Given the description of an element on the screen output the (x, y) to click on. 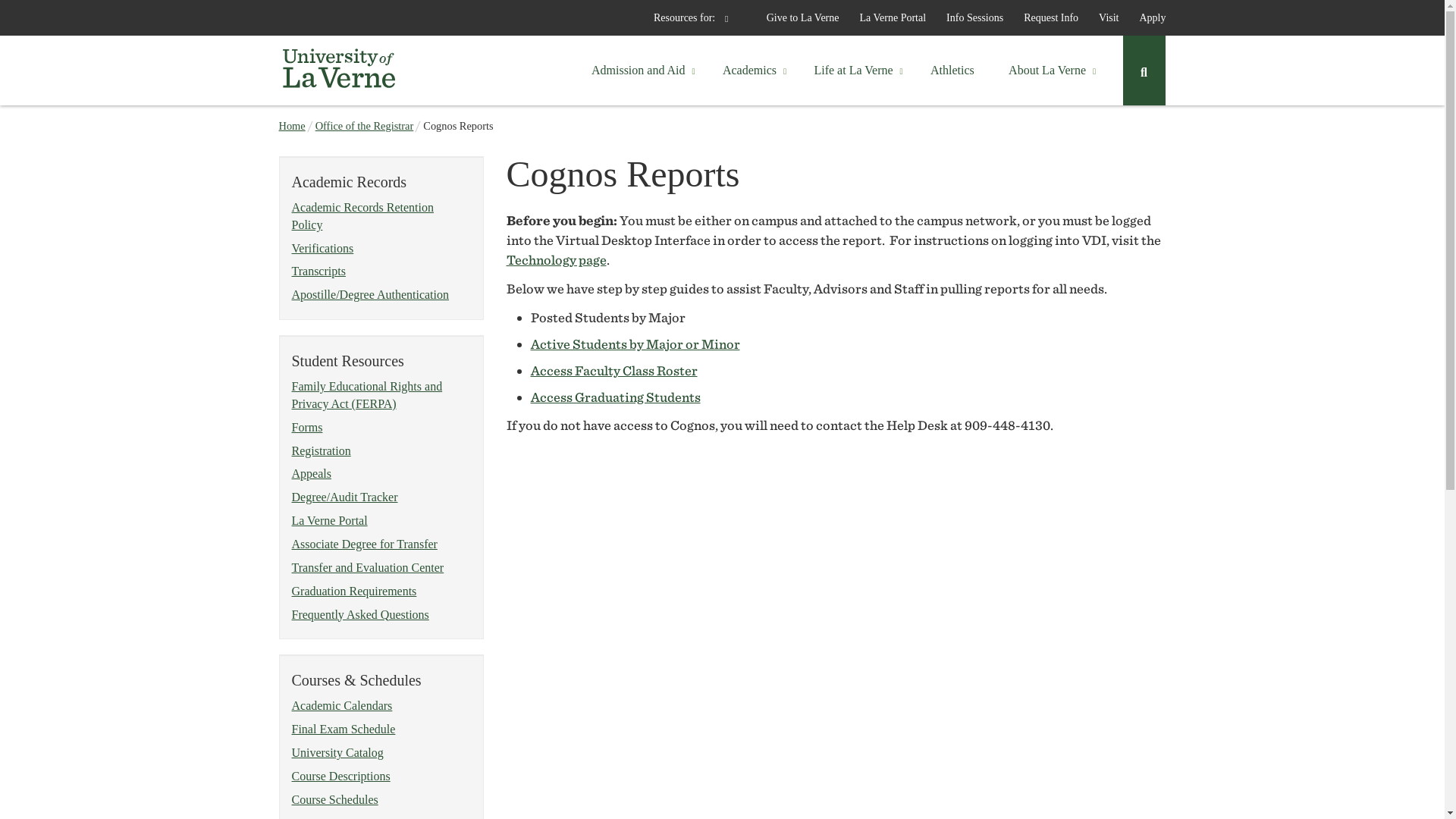
Cognos Reports (458, 125)
Resources for: (700, 18)
Visit (1099, 18)
Office of the Registrar (364, 125)
Info Sessions (965, 18)
Request Info (1042, 18)
Give to La Verne (794, 18)
Apply (1143, 18)
Admission and Aid (638, 69)
Academics (749, 69)
